Given the description of an element on the screen output the (x, y) to click on. 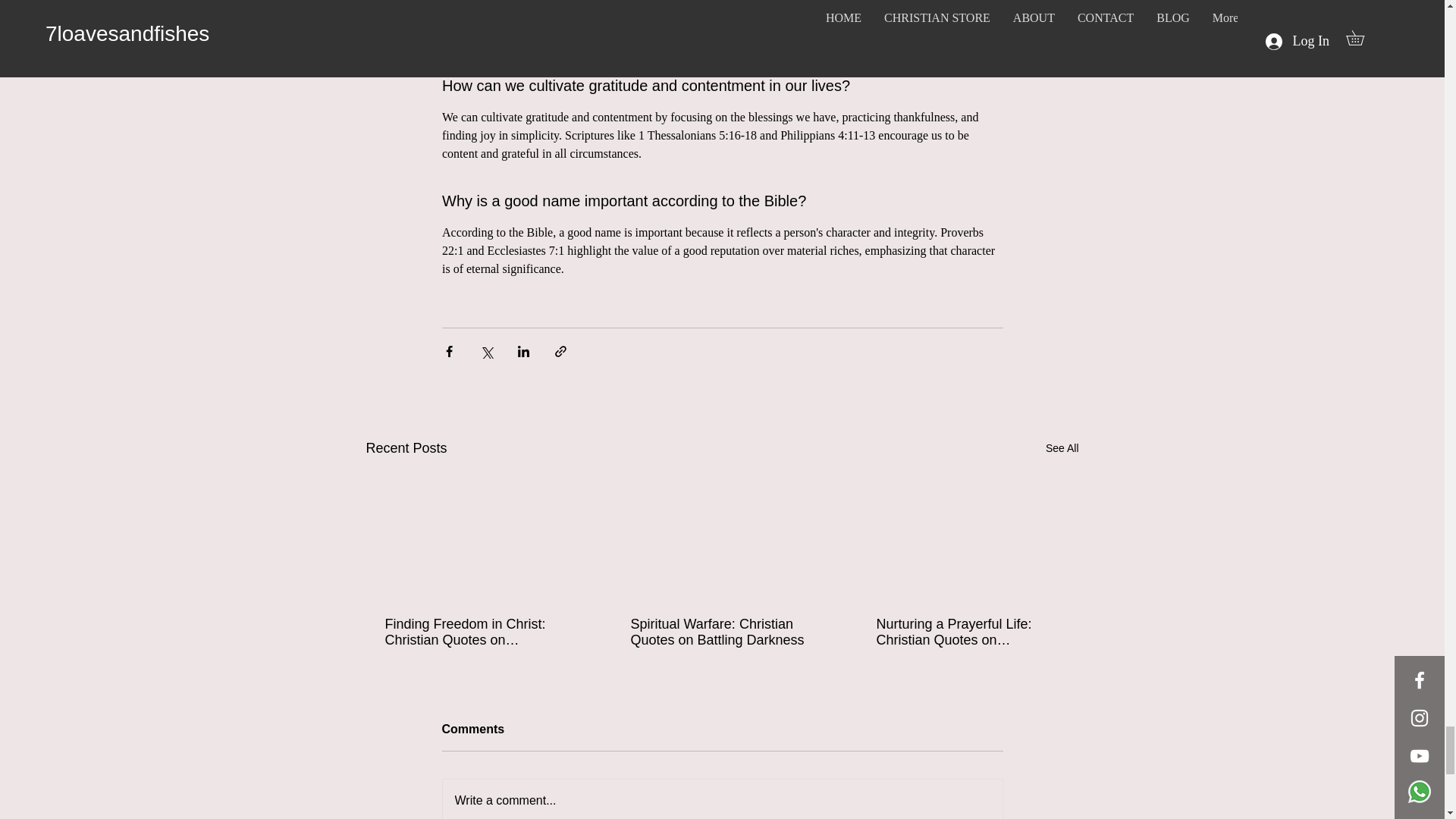
Write a comment... (722, 799)
Spiritual Warfare: Christian Quotes on Battling Darkness (721, 632)
Finding Freedom in Christ: Christian Quotes on Liberation (476, 632)
See All (1061, 448)
